Given the description of an element on the screen output the (x, y) to click on. 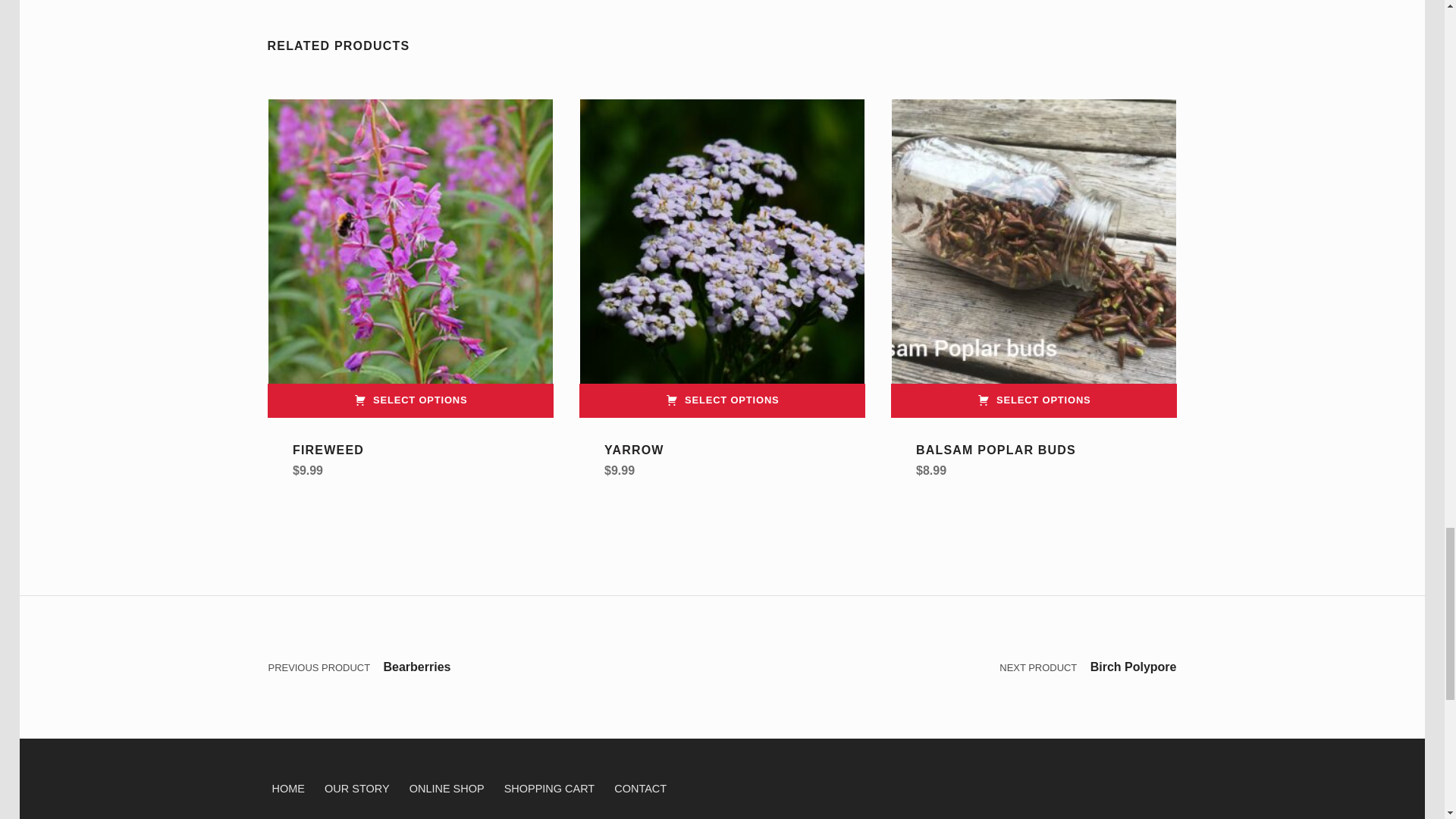
PREVIOUS PRODUCT Bearberries (494, 667)
SELECT OPTIONS (410, 400)
SELECT OPTIONS (1033, 400)
SELECT OPTIONS (721, 400)
